Given the description of an element on the screen output the (x, y) to click on. 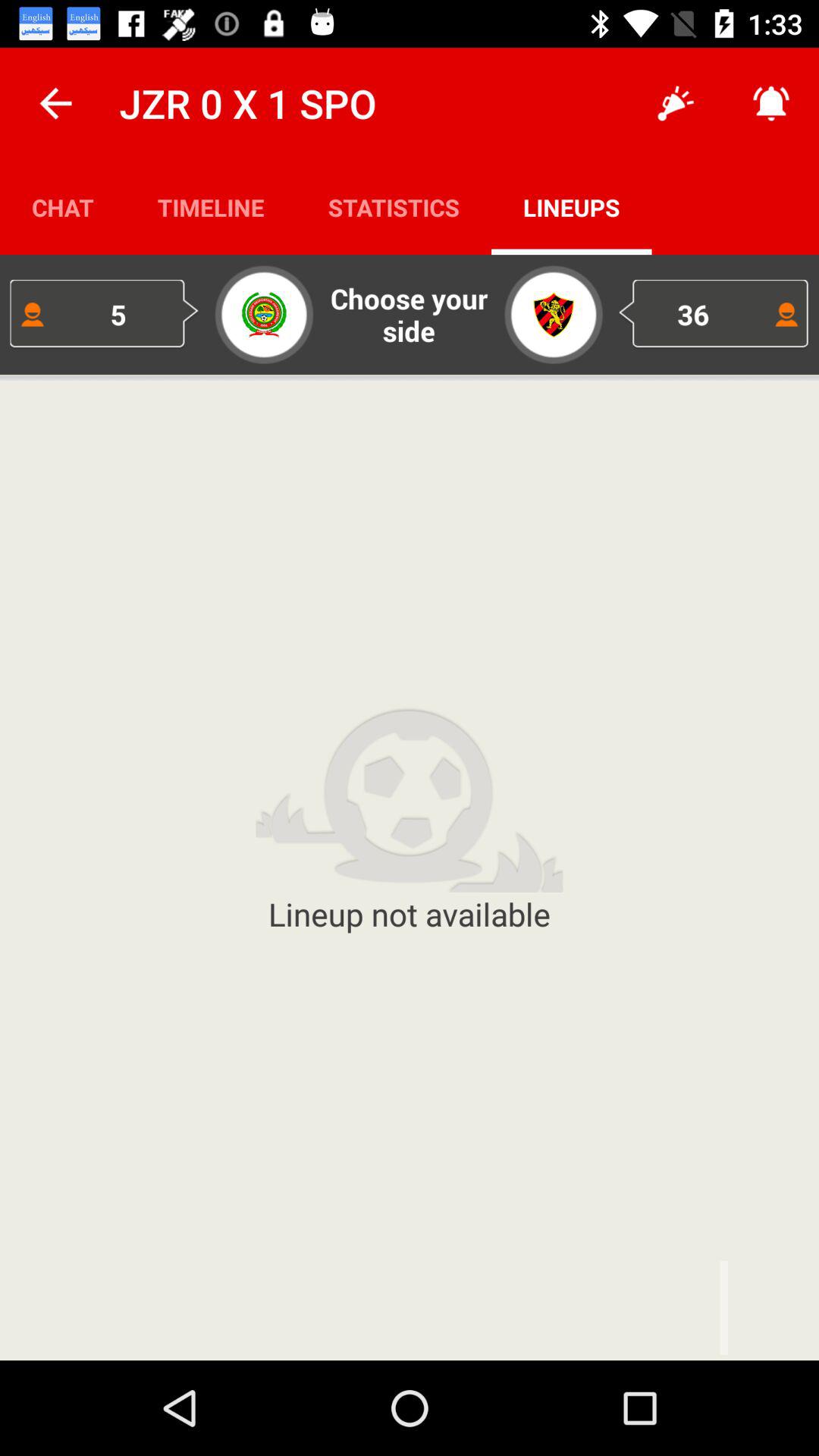
turn off the statistics icon (393, 206)
